Given the description of an element on the screen output the (x, y) to click on. 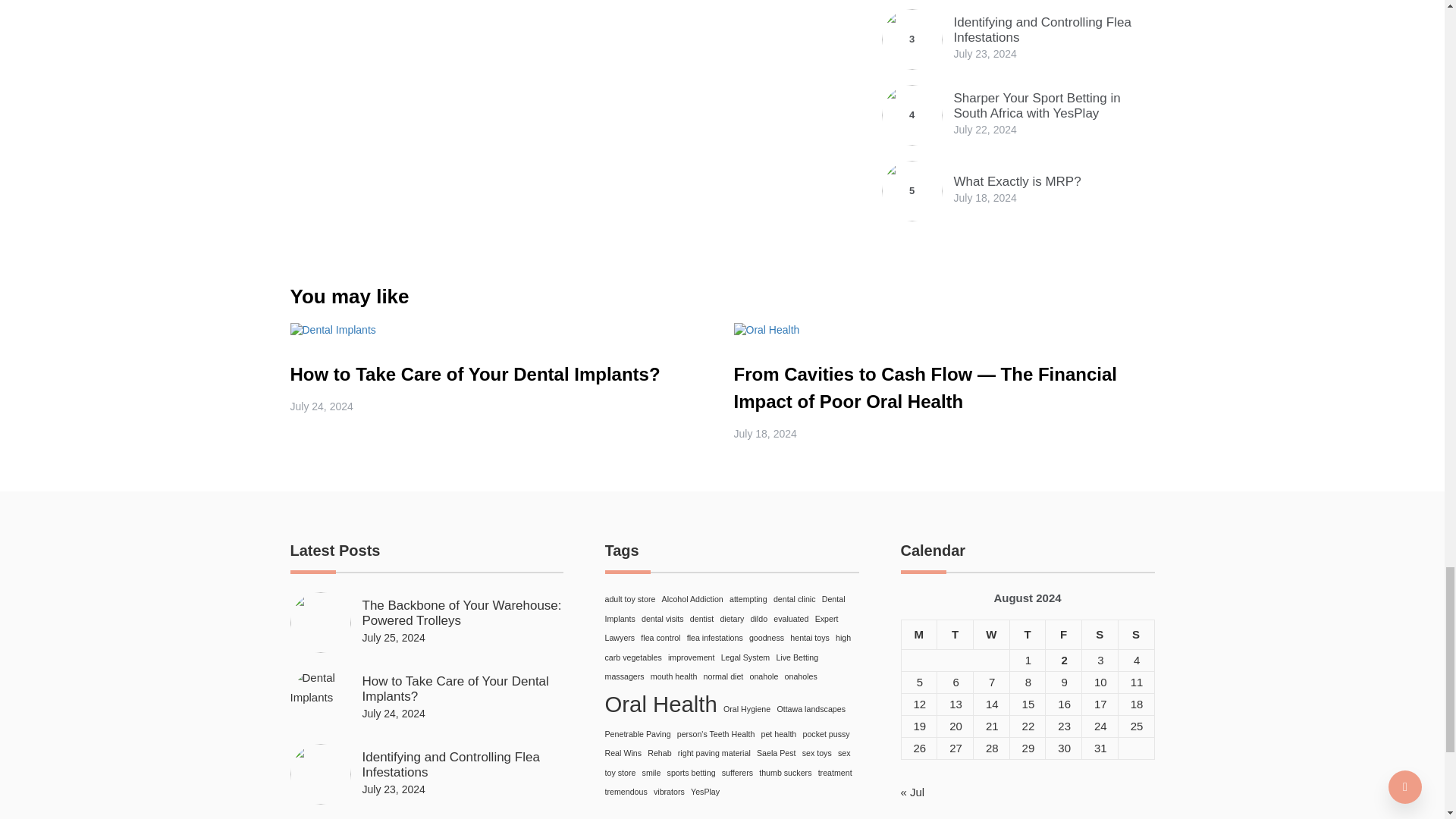
Saturday (1099, 634)
Monday (919, 634)
Sunday (1136, 634)
Wednesday (990, 634)
Friday (1063, 634)
Tuesday (955, 634)
Thursday (1027, 634)
